Given the description of an element on the screen output the (x, y) to click on. 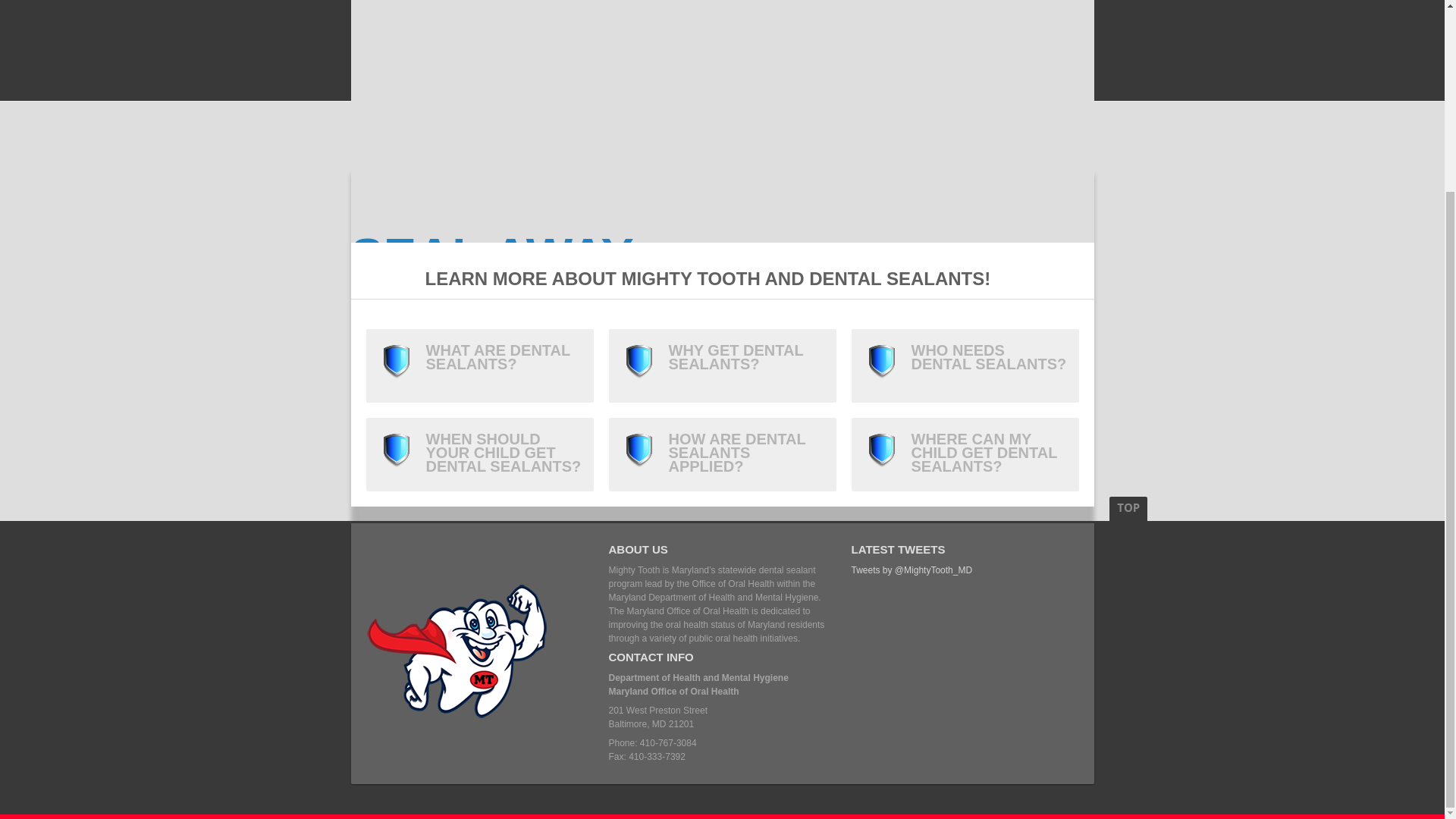
WHY GET DENTAL SEALANTS? (721, 365)
WHEN SHOULD YOUR CHILD GET DENTAL SEALANTS? (478, 454)
WHO NEEDS DENTAL SEALANTS? (964, 365)
HOW ARE DENTAL SEALANTS APPLIED? (721, 454)
WHERE CAN MY CHILD GET DENTAL SEALANTS? (964, 454)
WHAT ARE DENTAL SEALANTS? (478, 365)
